Given the description of an element on the screen output the (x, y) to click on. 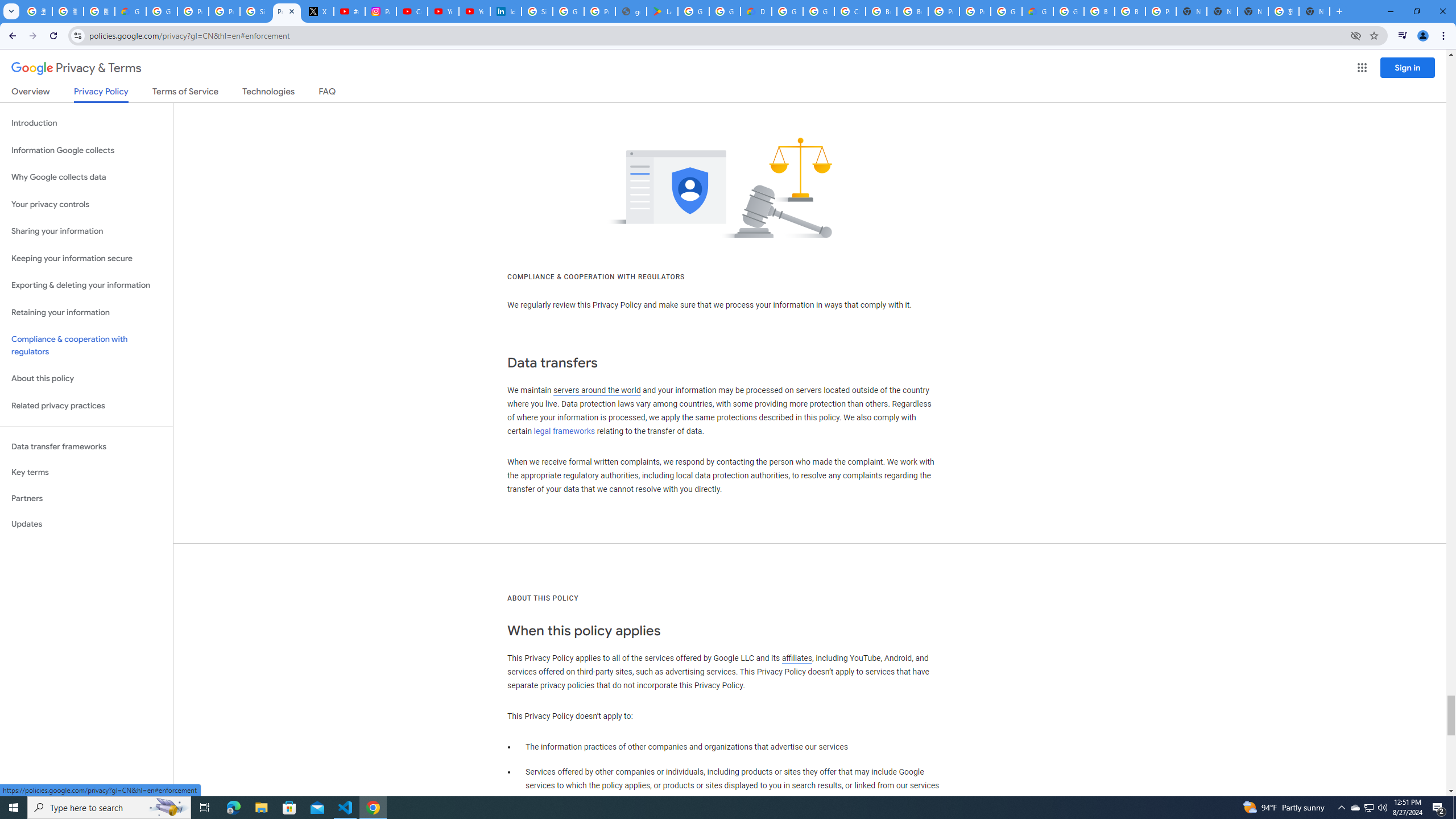
Google Cloud Platform (787, 11)
X (318, 11)
Sign in - Google Accounts (255, 11)
